Given the description of an element on the screen output the (x, y) to click on. 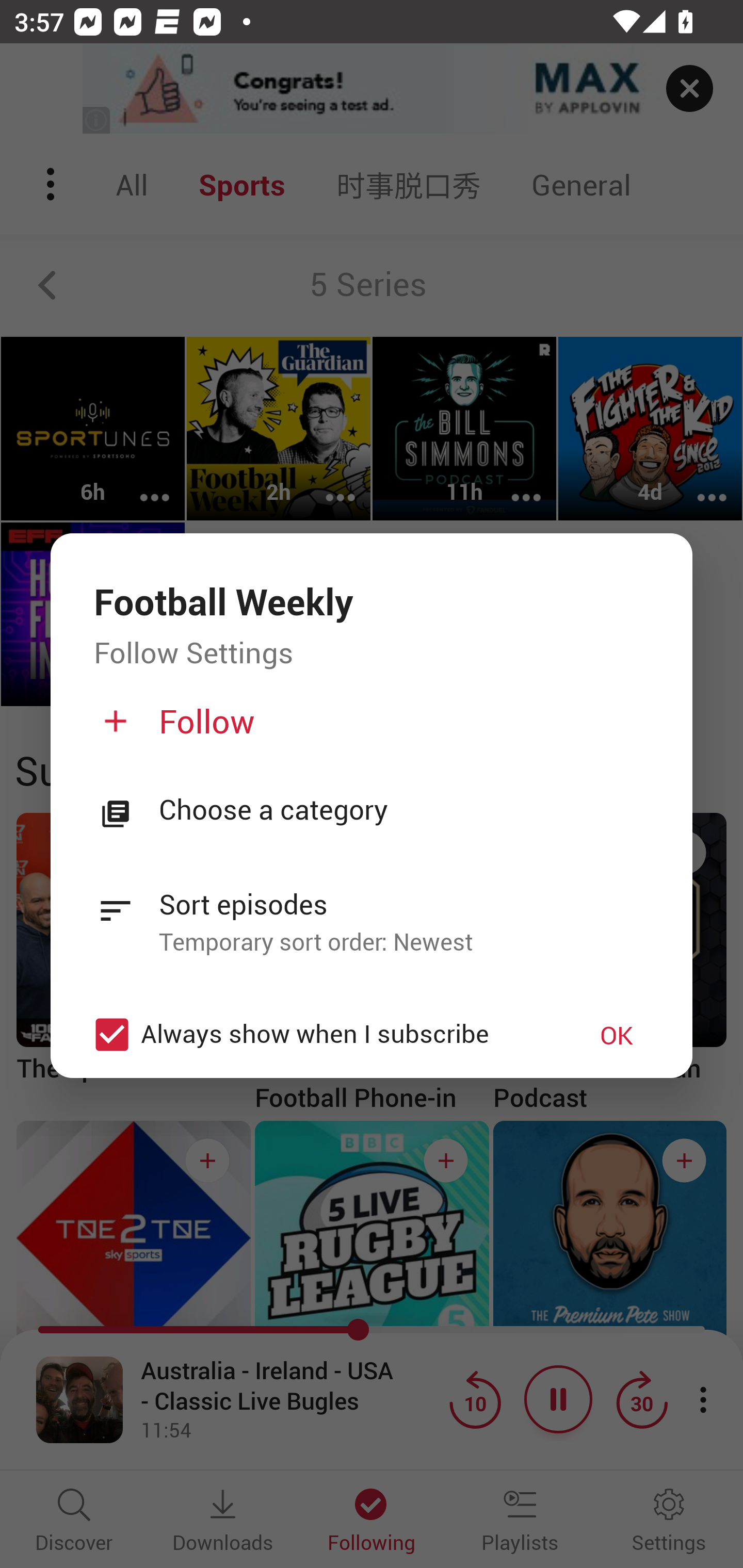
Follow (369, 729)
Choose a category (404, 810)
Sort episodes Temporary sort order: Newest (371, 911)
OK (616, 1034)
Always show when I subscribe (320, 1034)
